Given the description of an element on the screen output the (x, y) to click on. 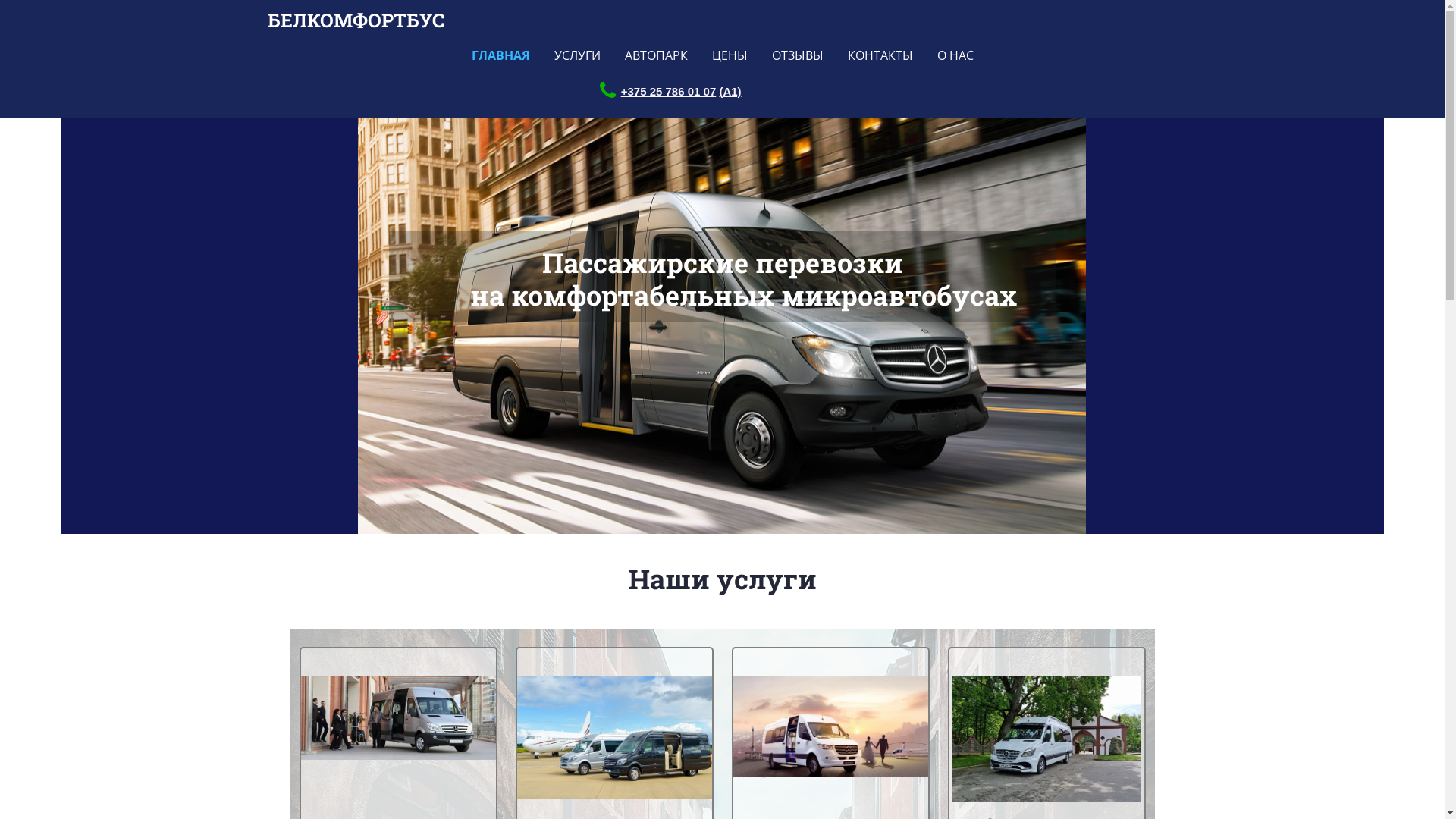
+375 25 786 01 07 Element type: text (668, 90)
